Given the description of an element on the screen output the (x, y) to click on. 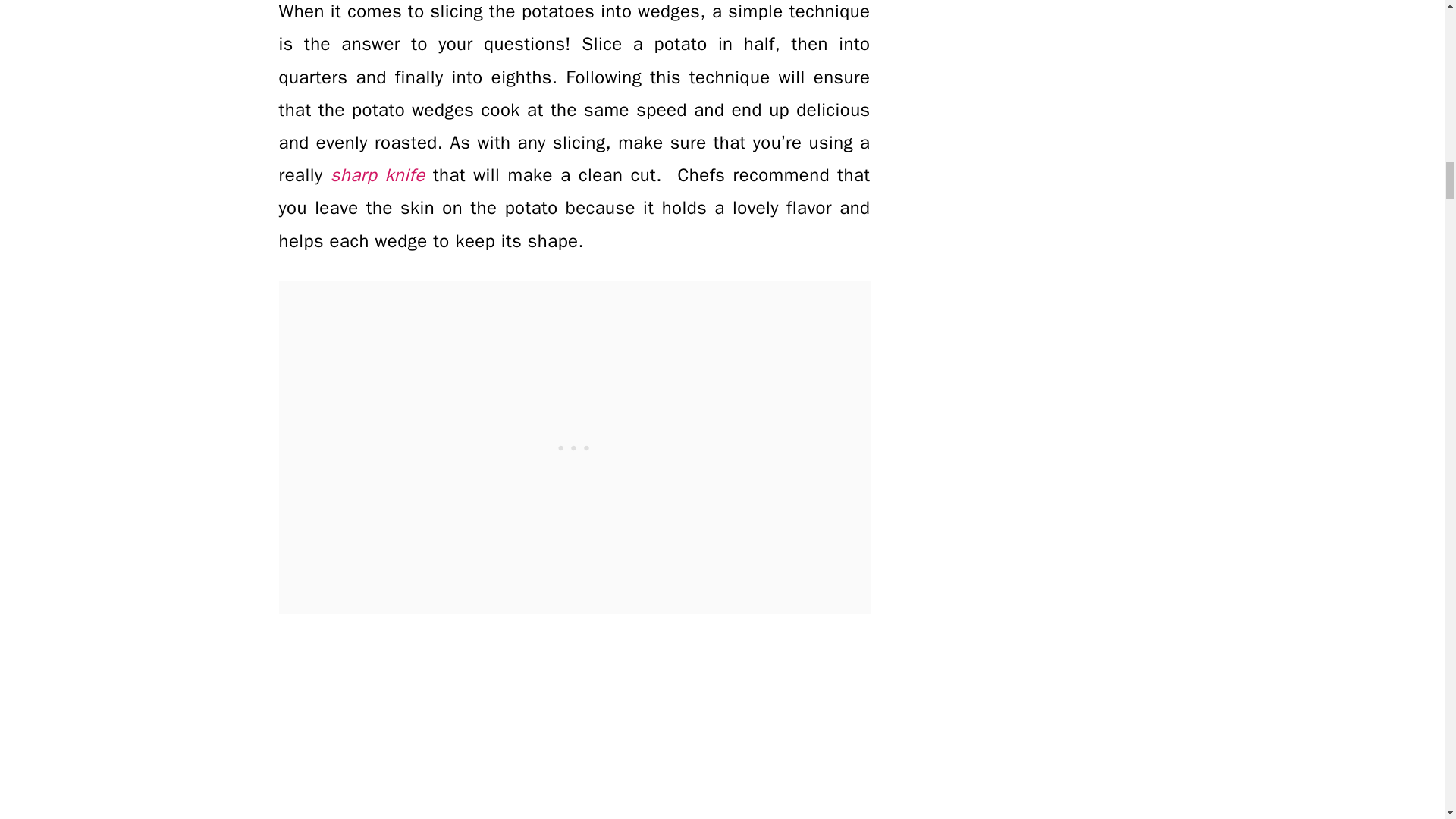
sharp knife (377, 174)
